Given the description of an element on the screen output the (x, y) to click on. 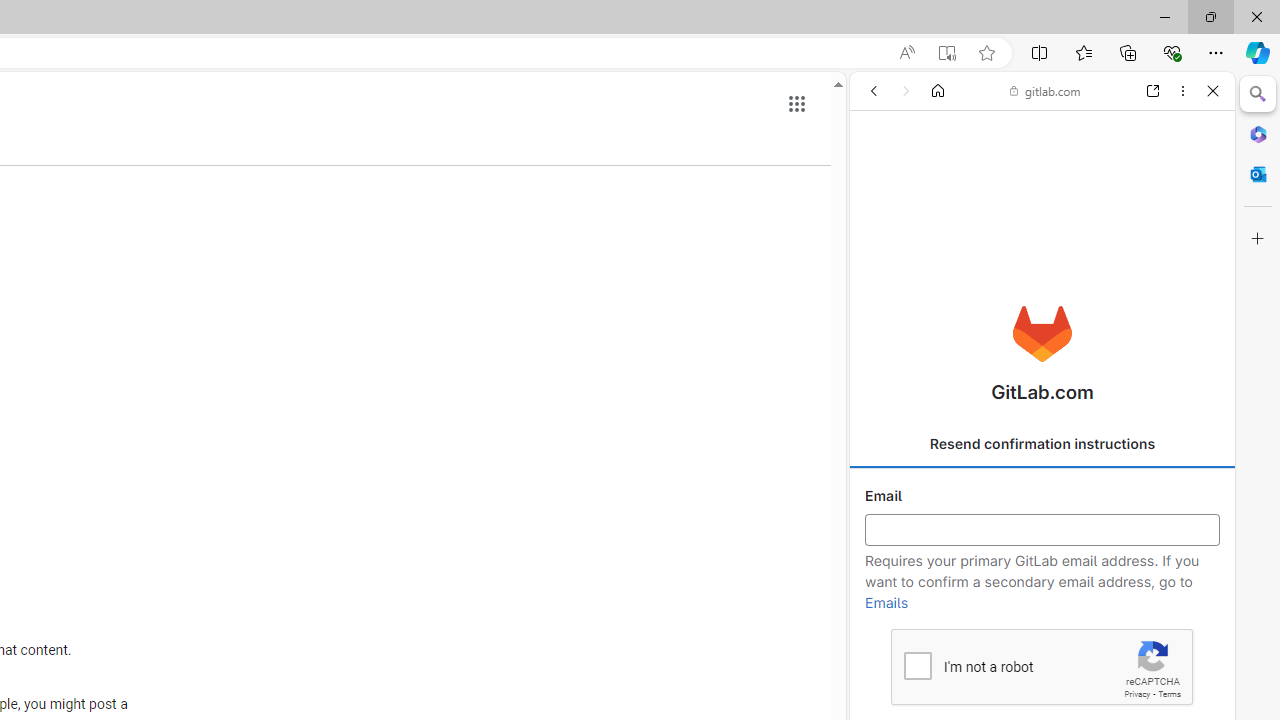
Close (1213, 91)
Register Now (1042, 445)
Emails (886, 603)
Home (938, 91)
Copilot (Ctrl+Shift+.) (1258, 52)
Web scope (882, 180)
IMAGES (936, 228)
Confirmation Page (1042, 684)
About GitLab (1042, 592)
gitlab.com (1045, 90)
Customize (1258, 239)
Settings and more (Alt+F) (1215, 52)
Split screen (1039, 52)
